Given the description of an element on the screen output the (x, y) to click on. 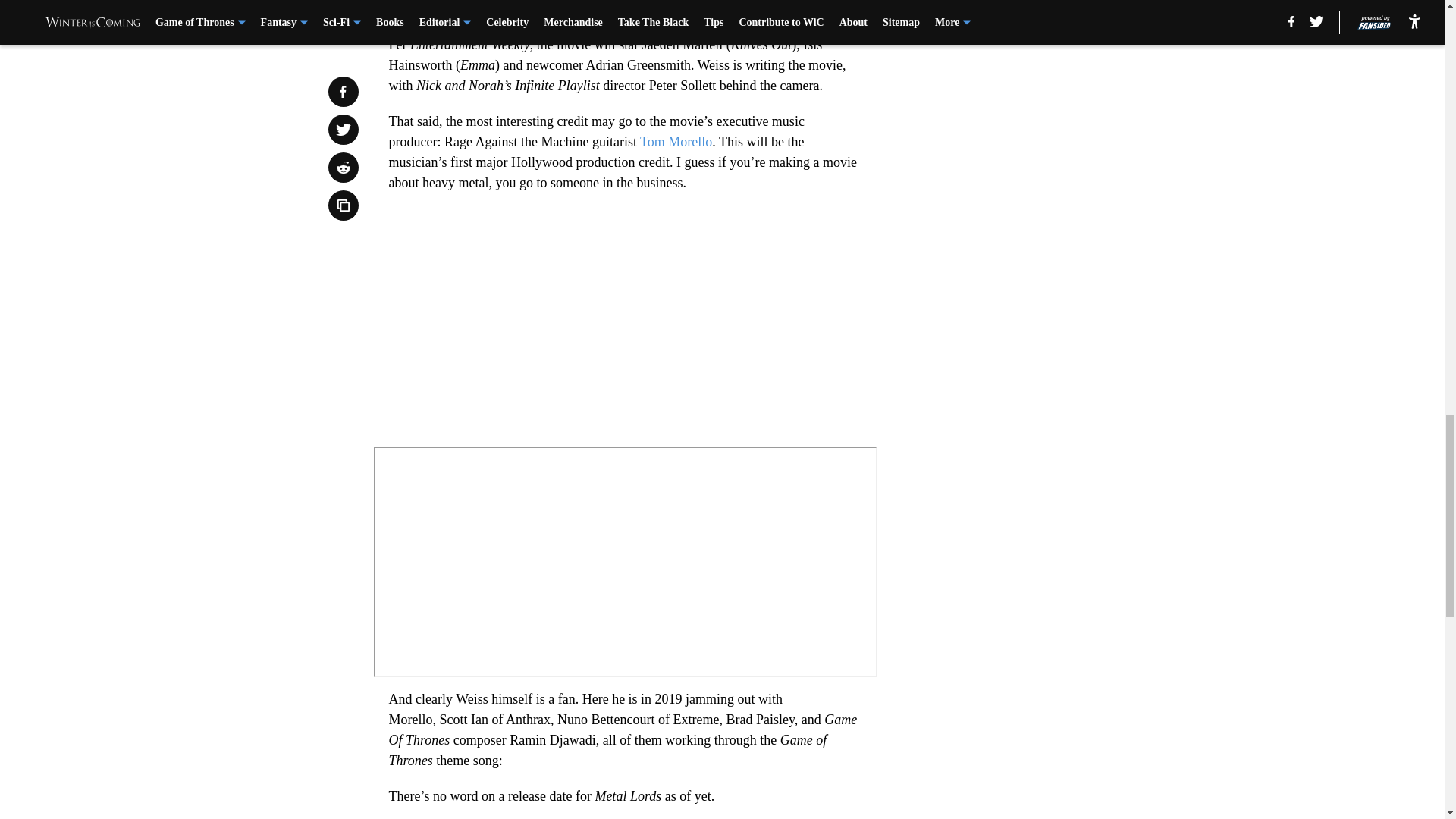
omny (624, 561)
